Given the description of an element on the screen output the (x, y) to click on. 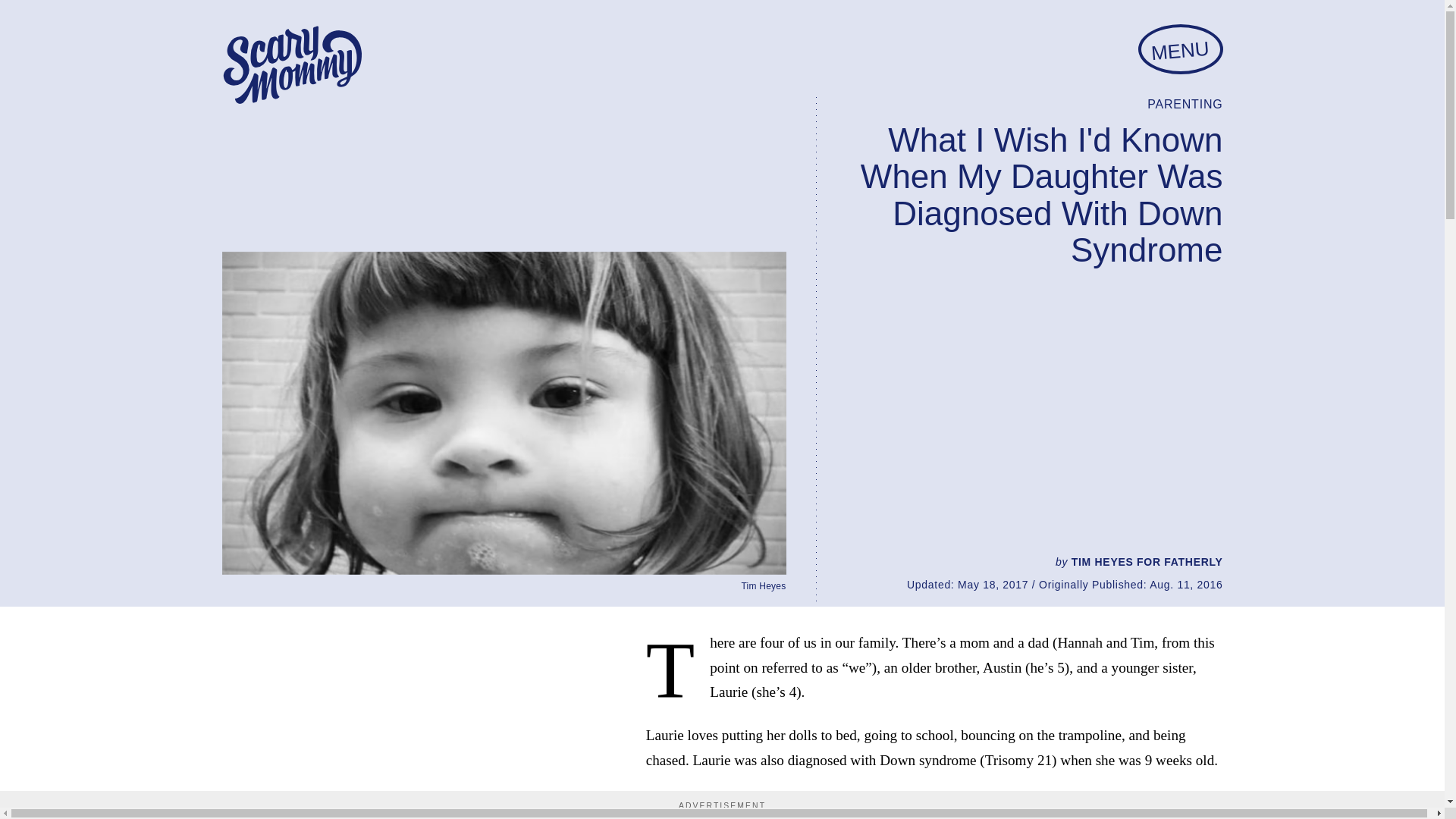
Scary Mommy (291, 64)
